Given the description of an element on the screen output the (x, y) to click on. 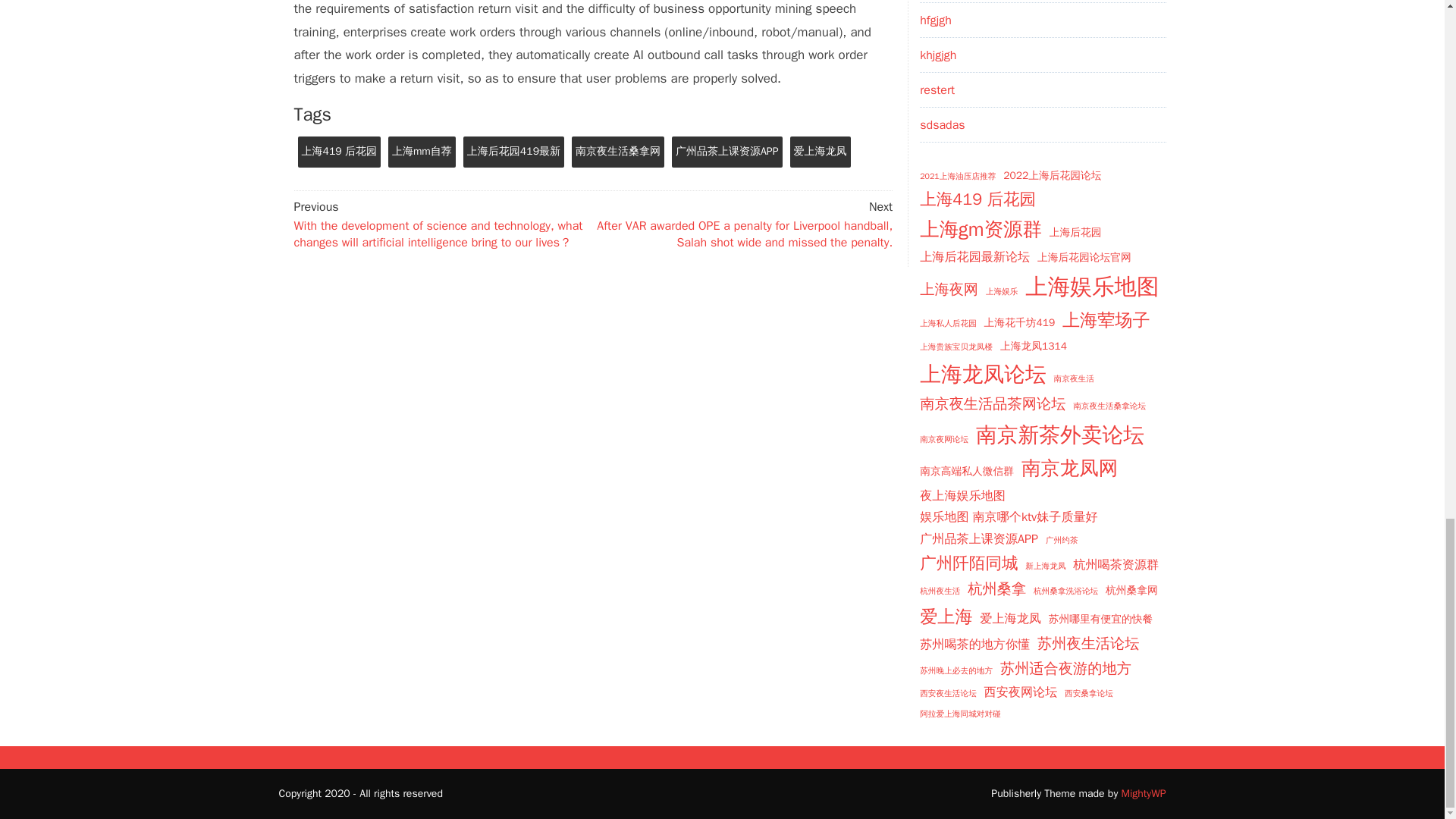
sdsadas (941, 124)
restert (937, 89)
hfgjgh (936, 20)
khjgjgh (938, 55)
